Given the description of an element on the screen output the (x, y) to click on. 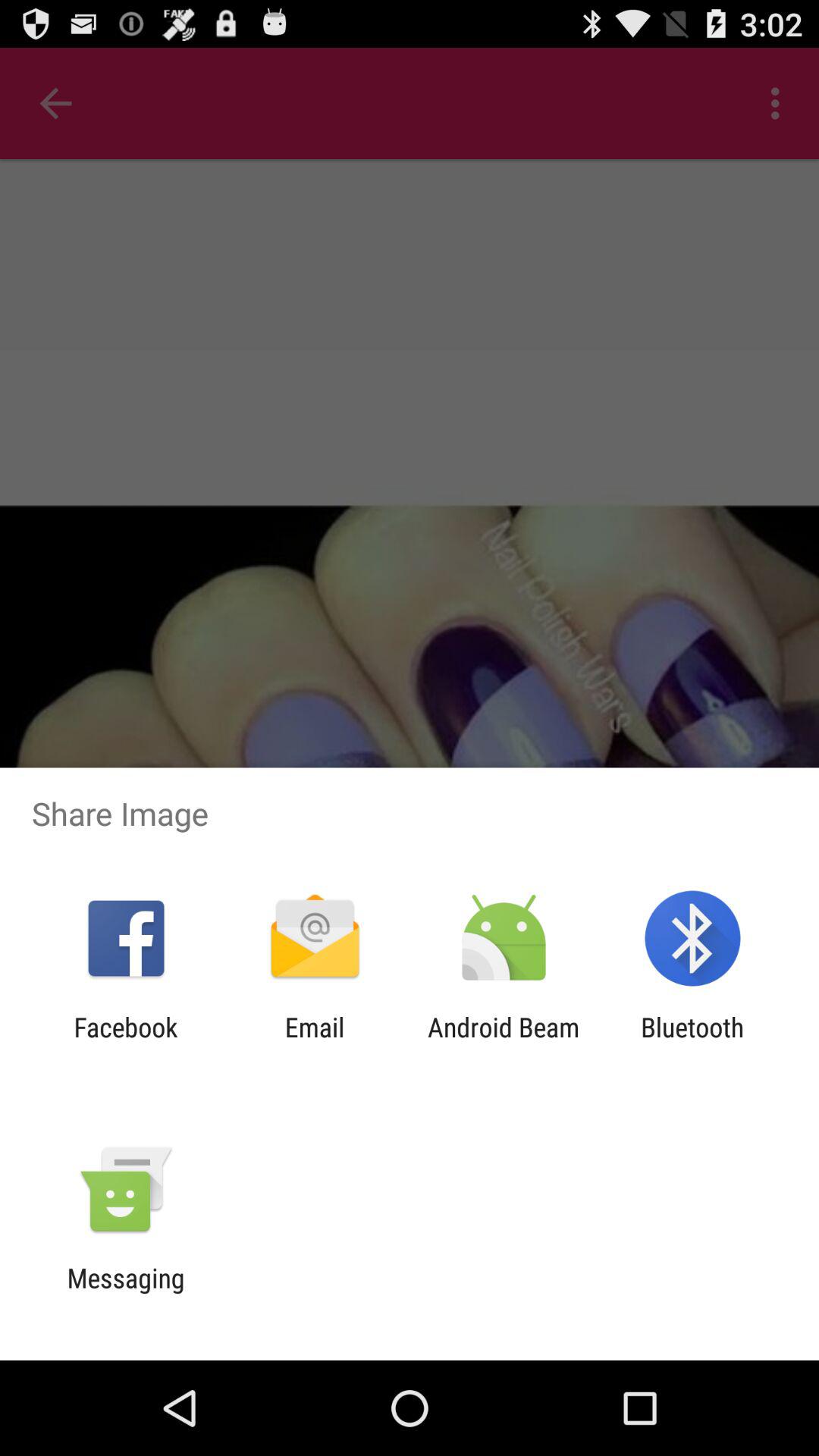
select the icon next to email (125, 1042)
